Given the description of an element on the screen output the (x, y) to click on. 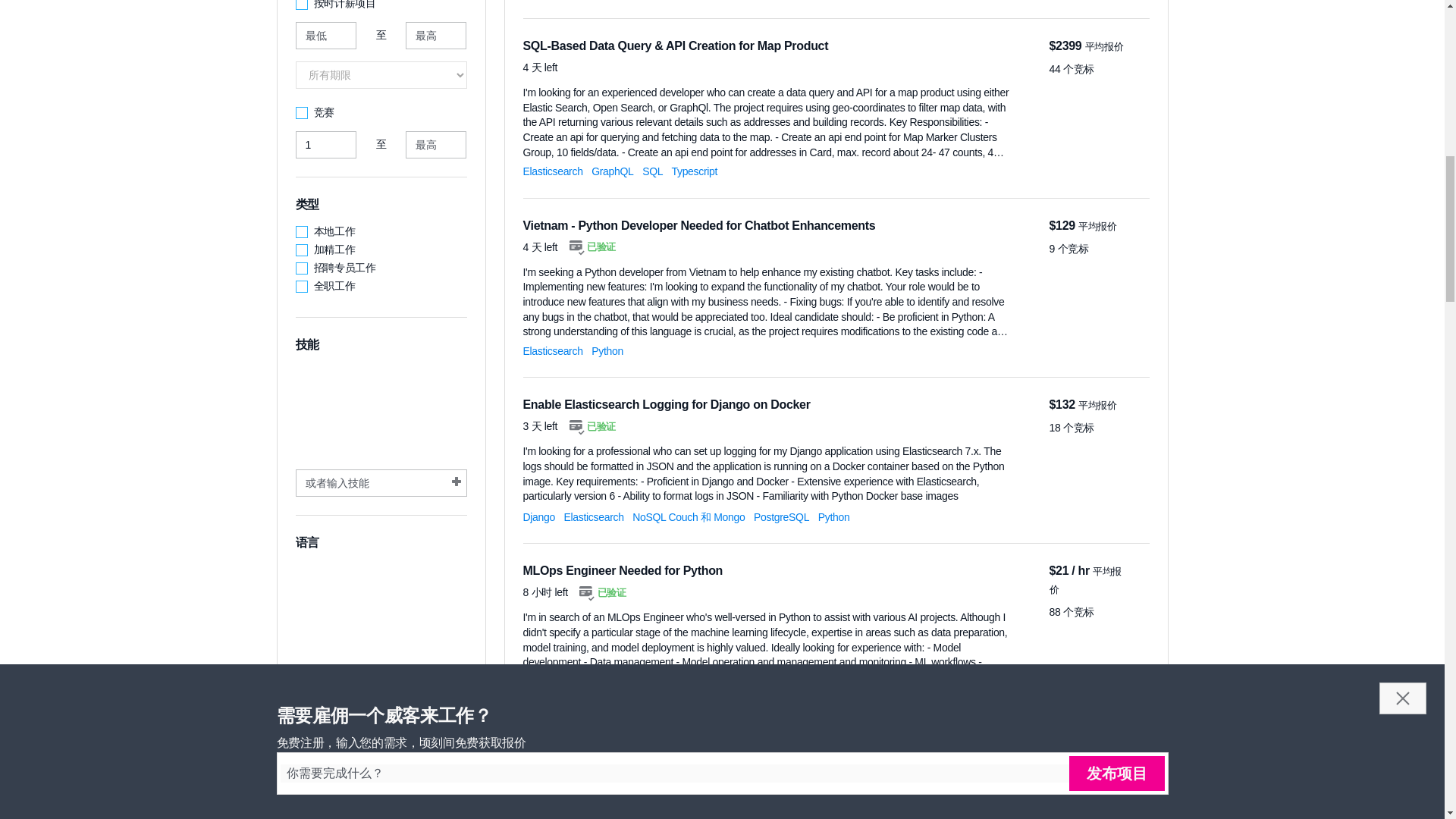
1 (325, 144)
SQL (652, 171)
Typescript (694, 171)
Elasticsearch (552, 350)
Python (607, 350)
GraphQL (612, 171)
Enable Elasticsearch Logging for Django on Docker (666, 404)
Elasticsearch (552, 171)
Vietnam - Python Developer Needed for Chatbot Enhancements (699, 225)
